Given the description of an element on the screen output the (x, y) to click on. 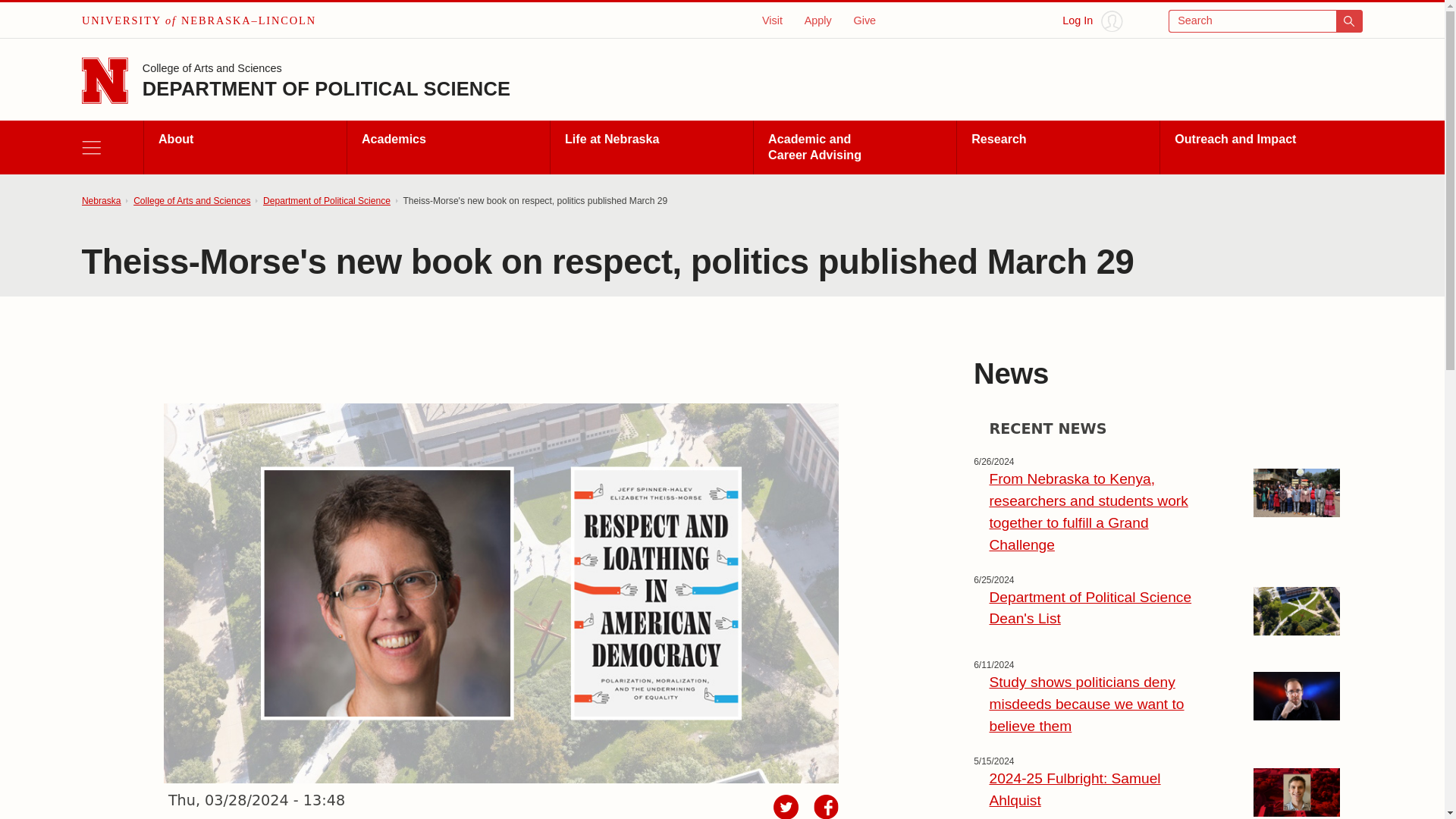
Visit (772, 20)
Apply (818, 20)
Research (1057, 147)
Academic and Career Advising (854, 147)
About (244, 147)
Log In (1092, 21)
Give (864, 20)
DEPARTMENT OF POLITICAL SCIENCE (326, 88)
Search (1265, 21)
Academics (448, 147)
Life at Nebraska (651, 147)
Skip to main content (19, 16)
College of Arts and Sciences (212, 69)
